Given the description of an element on the screen output the (x, y) to click on. 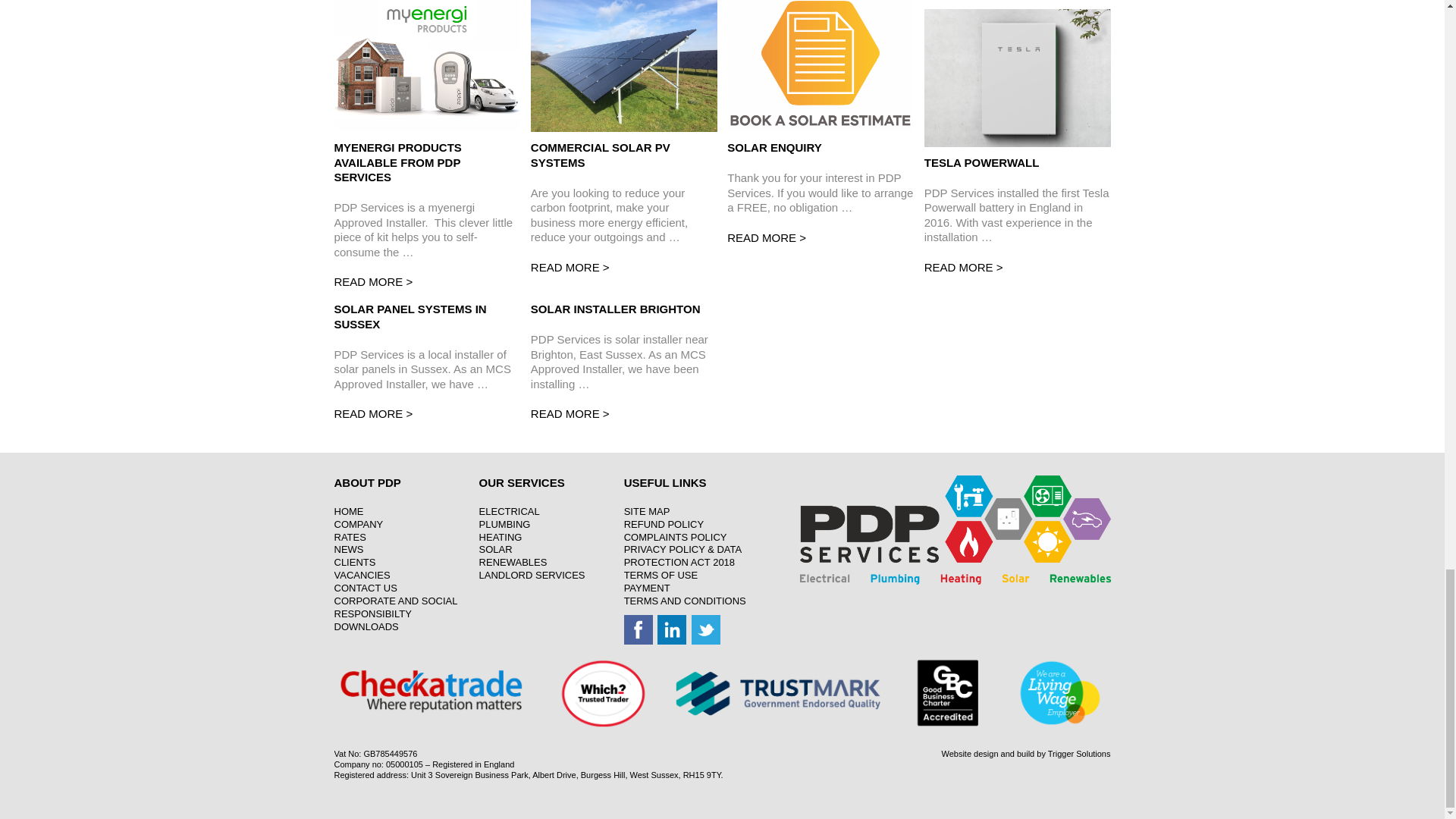
CLIENTS (354, 562)
RATES (349, 536)
VACANCIES (361, 574)
COMPANY (357, 523)
NEWS (347, 549)
HOME (347, 511)
